Given the description of an element on the screen output the (x, y) to click on. 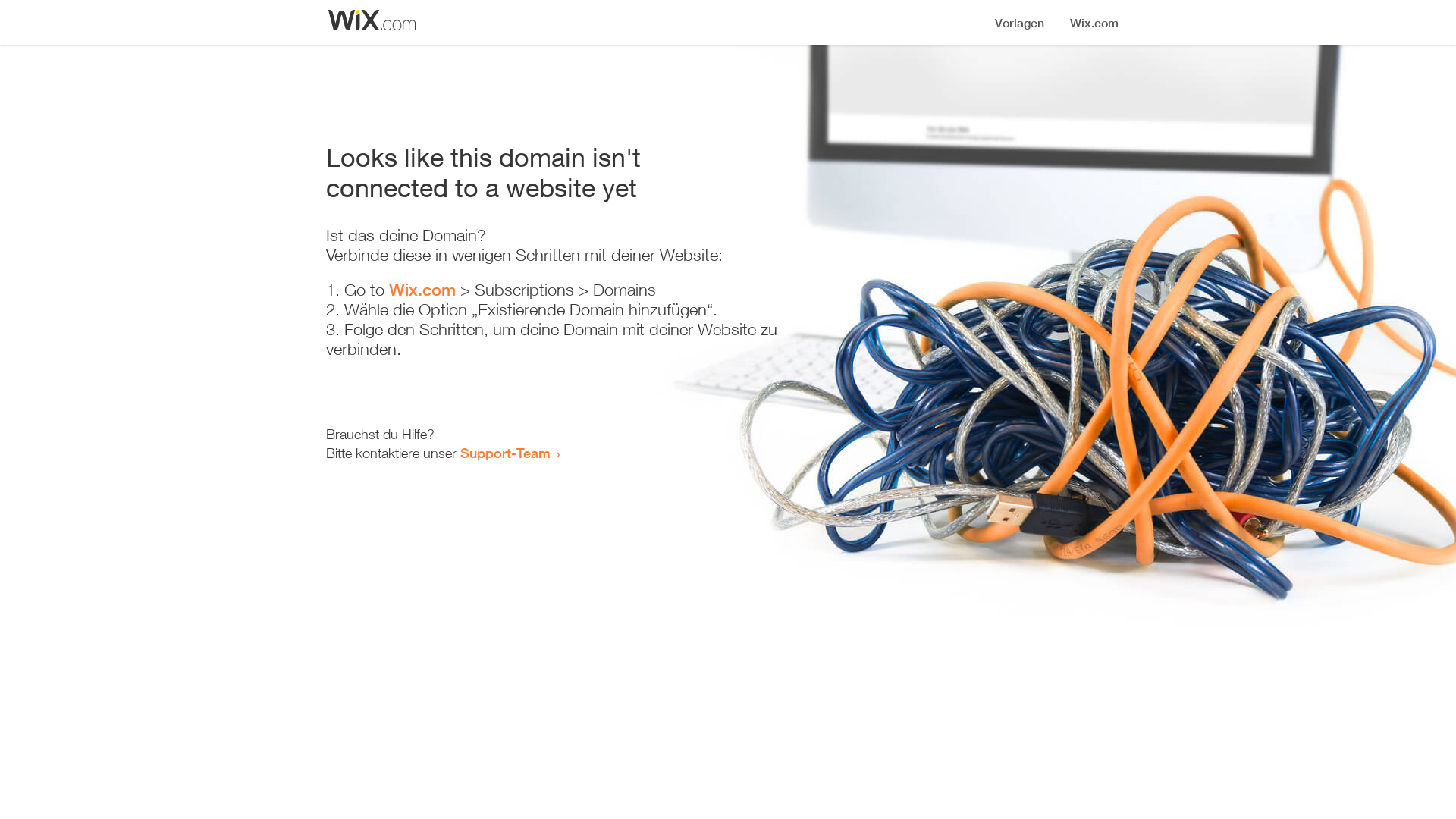
Wix.com Element type: text (422, 289)
Support-Team Element type: text (505, 452)
